Given the description of an element on the screen output the (x, y) to click on. 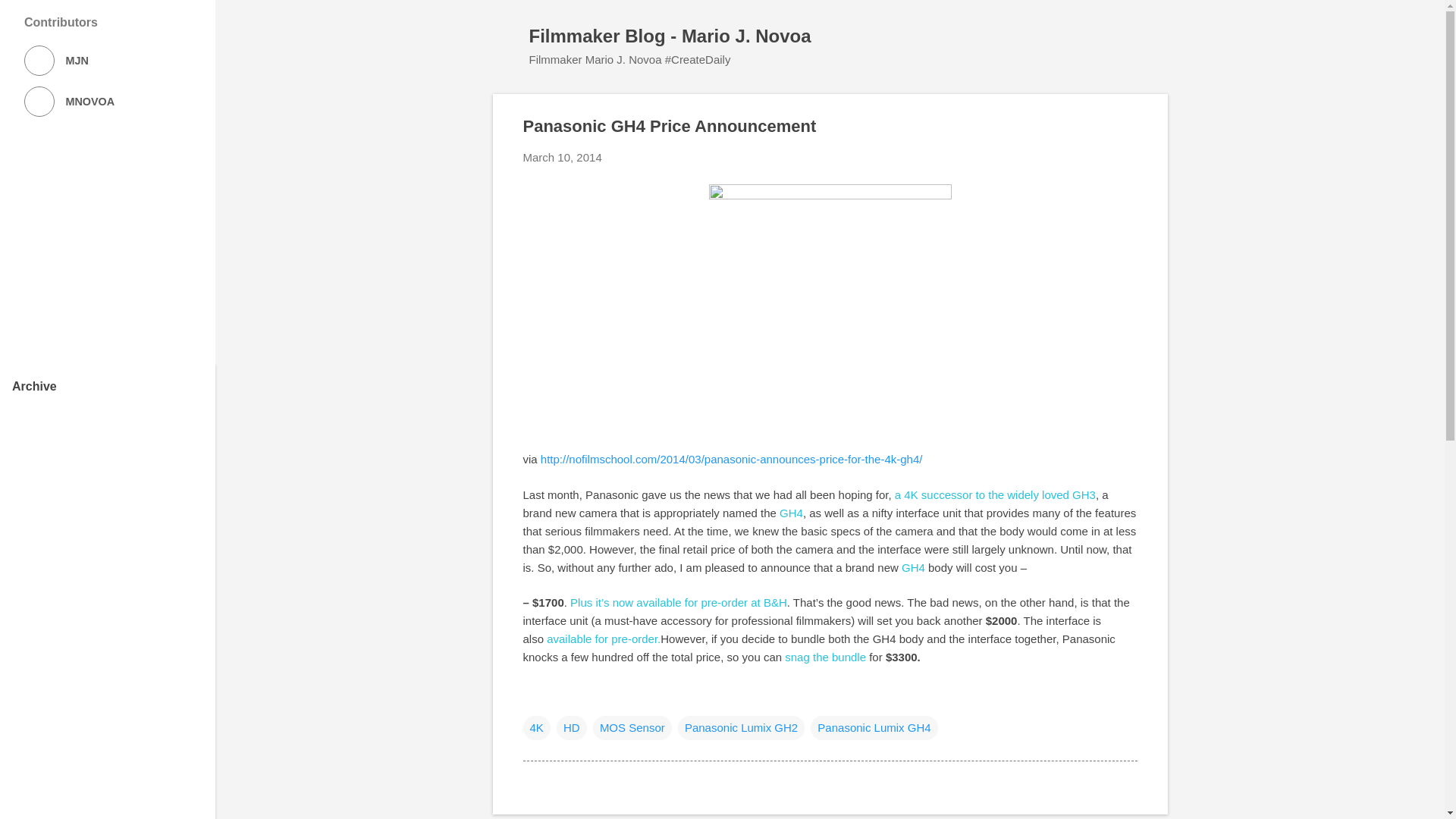
available for pre-order. (604, 638)
GH4 (790, 512)
HD (571, 727)
MOS Sensor (631, 727)
GH4 (912, 567)
Filmmaker Blog - Mario J. Novoa (669, 35)
Panasonic Lumix GH2 (741, 727)
permanent link (562, 156)
a 4K successor to the widely loved GH3 (995, 494)
4K (536, 727)
